Given the description of an element on the screen output the (x, y) to click on. 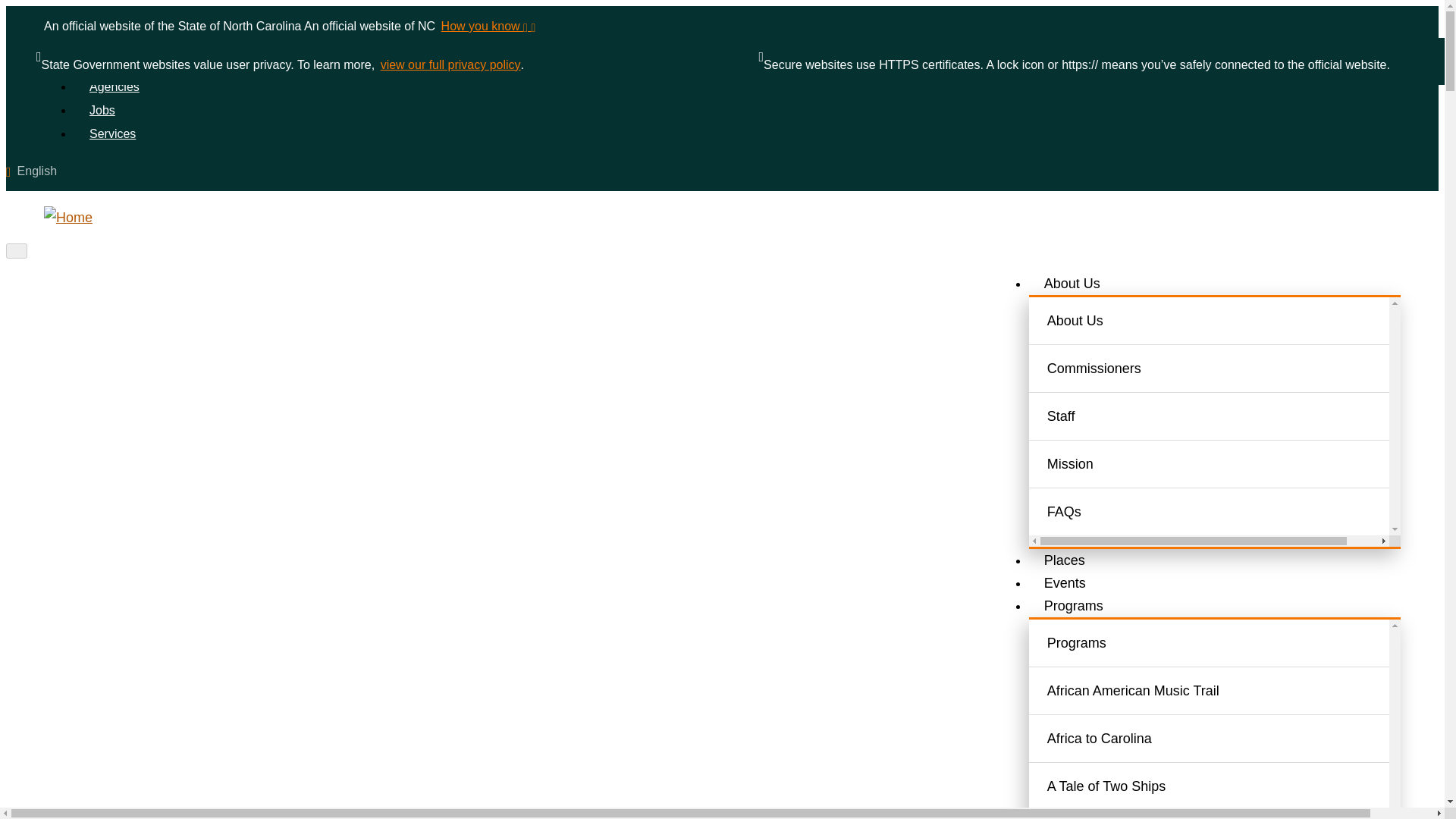
Places (1064, 560)
Africa to Carolina (1227, 737)
How you know (487, 26)
NC.gov (101, 62)
Programs (1073, 605)
Mission (1227, 463)
Programs (1227, 642)
Agencies (114, 86)
A Tale of Two Ships (1227, 786)
view our full privacy policy (449, 65)
Staff (1227, 416)
Jobs (102, 110)
Events (1064, 583)
Services (112, 133)
About Us (1072, 283)
